Given the description of an element on the screen output the (x, y) to click on. 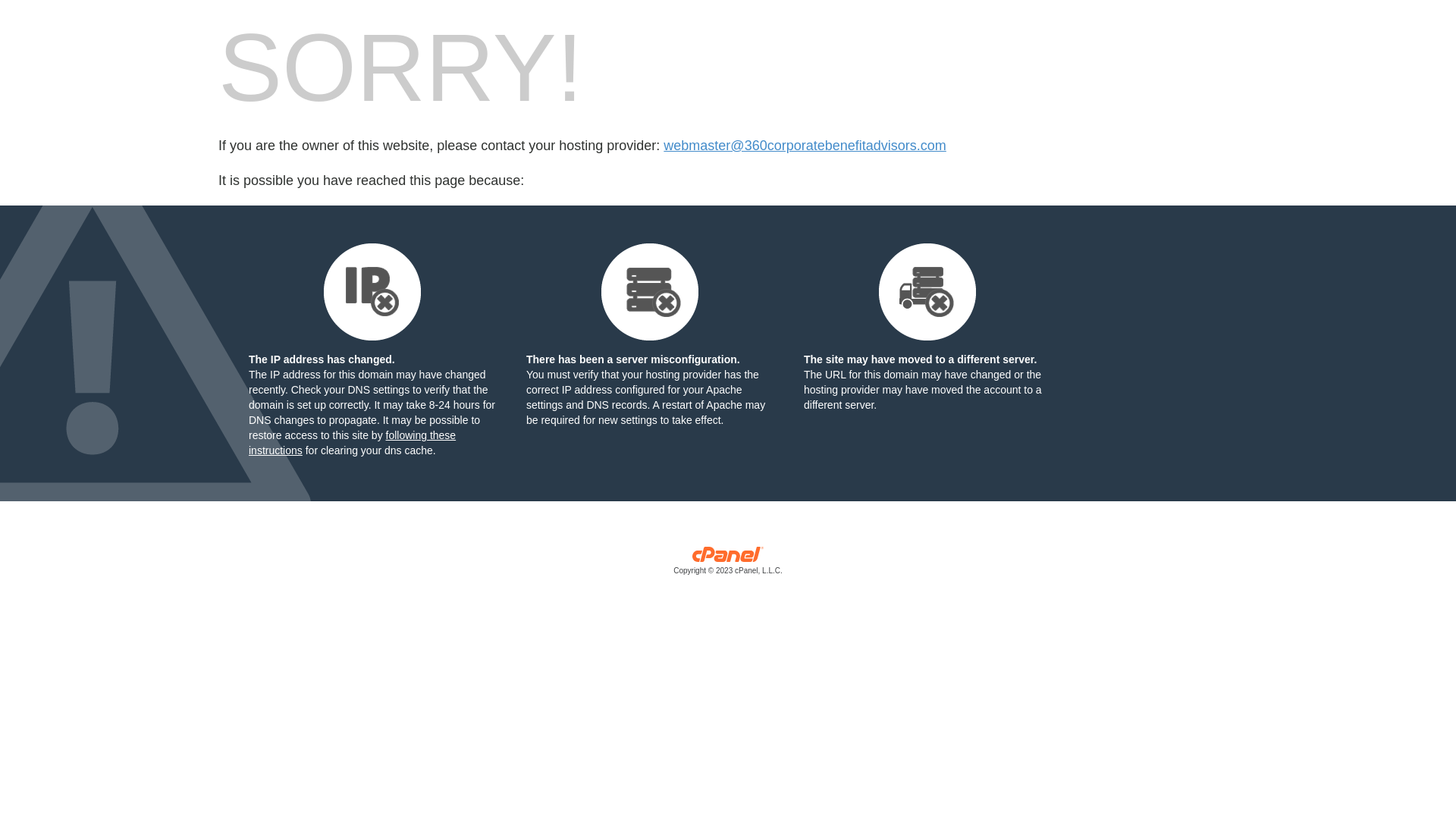
following these instructions Element type: text (351, 442)
webmaster@360corporatebenefitadvisors.com Element type: text (804, 145)
